Given the description of an element on the screen output the (x, y) to click on. 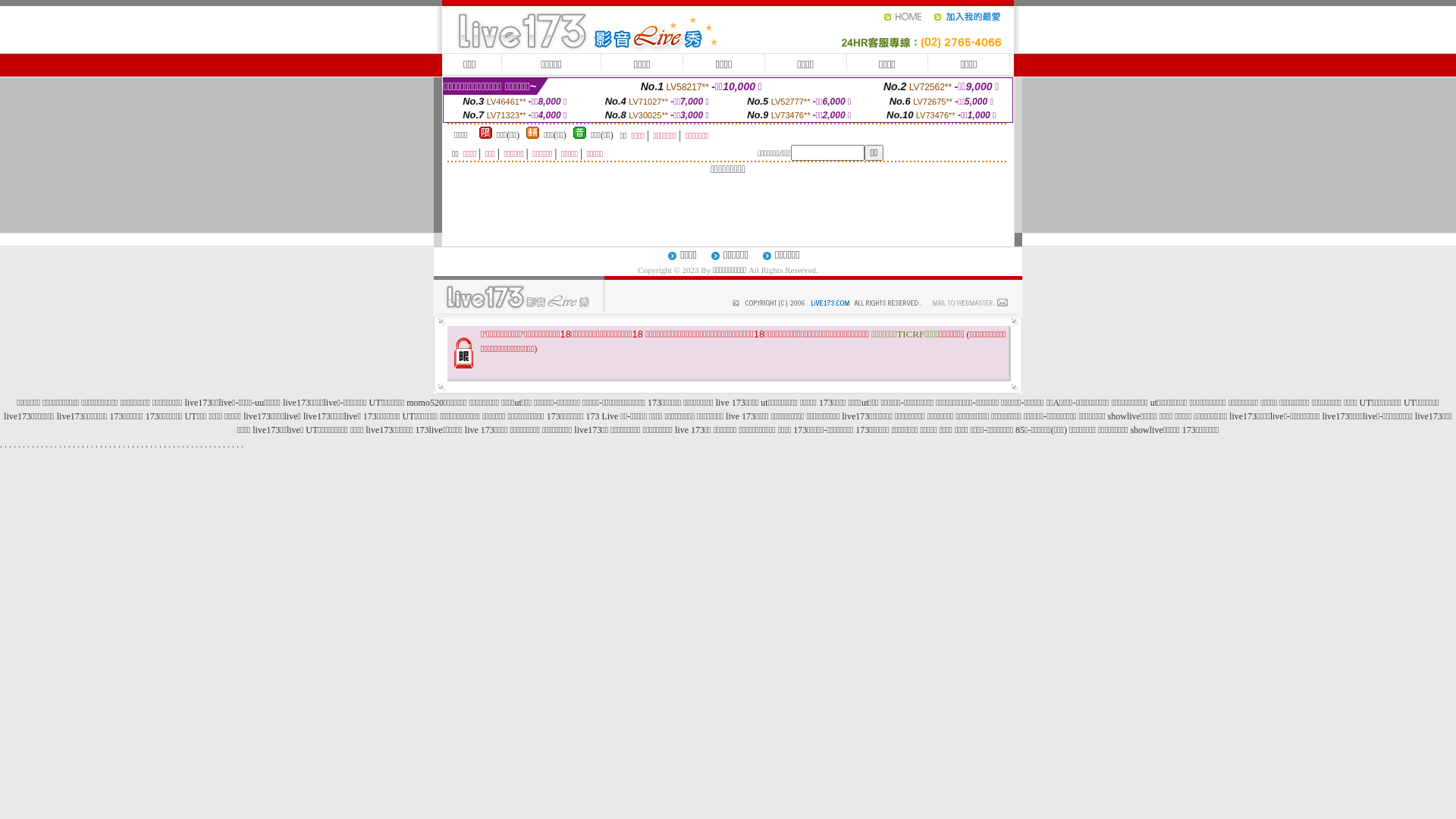
. Element type: text (5, 444)
. Element type: text (183, 444)
. Element type: text (82, 444)
. Element type: text (14, 444)
. Element type: text (1, 444)
. Element type: text (228, 444)
. Element type: text (205, 444)
. Element type: text (19, 444)
. Element type: text (210, 444)
. Element type: text (32, 444)
. Element type: text (137, 444)
. Element type: text (173, 444)
. Element type: text (51, 444)
. Element type: text (151, 444)
. Element type: text (233, 444)
. Element type: text (105, 444)
. Element type: text (219, 444)
. Element type: text (196, 444)
. Element type: text (187, 444)
. Element type: text (101, 444)
. Element type: text (160, 444)
. Element type: text (78, 444)
. Element type: text (60, 444)
. Element type: text (128, 444)
. Element type: text (155, 444)
. Element type: text (37, 444)
. Element type: text (87, 444)
. Element type: text (55, 444)
. Element type: text (10, 444)
. Element type: text (237, 444)
. Element type: text (201, 444)
. Element type: text (119, 444)
. Element type: text (114, 444)
. Element type: text (110, 444)
. Element type: text (96, 444)
. Element type: text (146, 444)
. Element type: text (41, 444)
. Element type: text (178, 444)
. Element type: text (46, 444)
. Element type: text (69, 444)
. Element type: text (64, 444)
. Element type: text (28, 444)
. Element type: text (223, 444)
. Element type: text (123, 444)
. Element type: text (142, 444)
. Element type: text (192, 444)
. Element type: text (164, 444)
. Element type: text (169, 444)
. Element type: text (242, 444)
. Element type: text (214, 444)
. Element type: text (73, 444)
. Element type: text (23, 444)
. Element type: text (132, 444)
. Element type: text (92, 444)
